Given the description of an element on the screen output the (x, y) to click on. 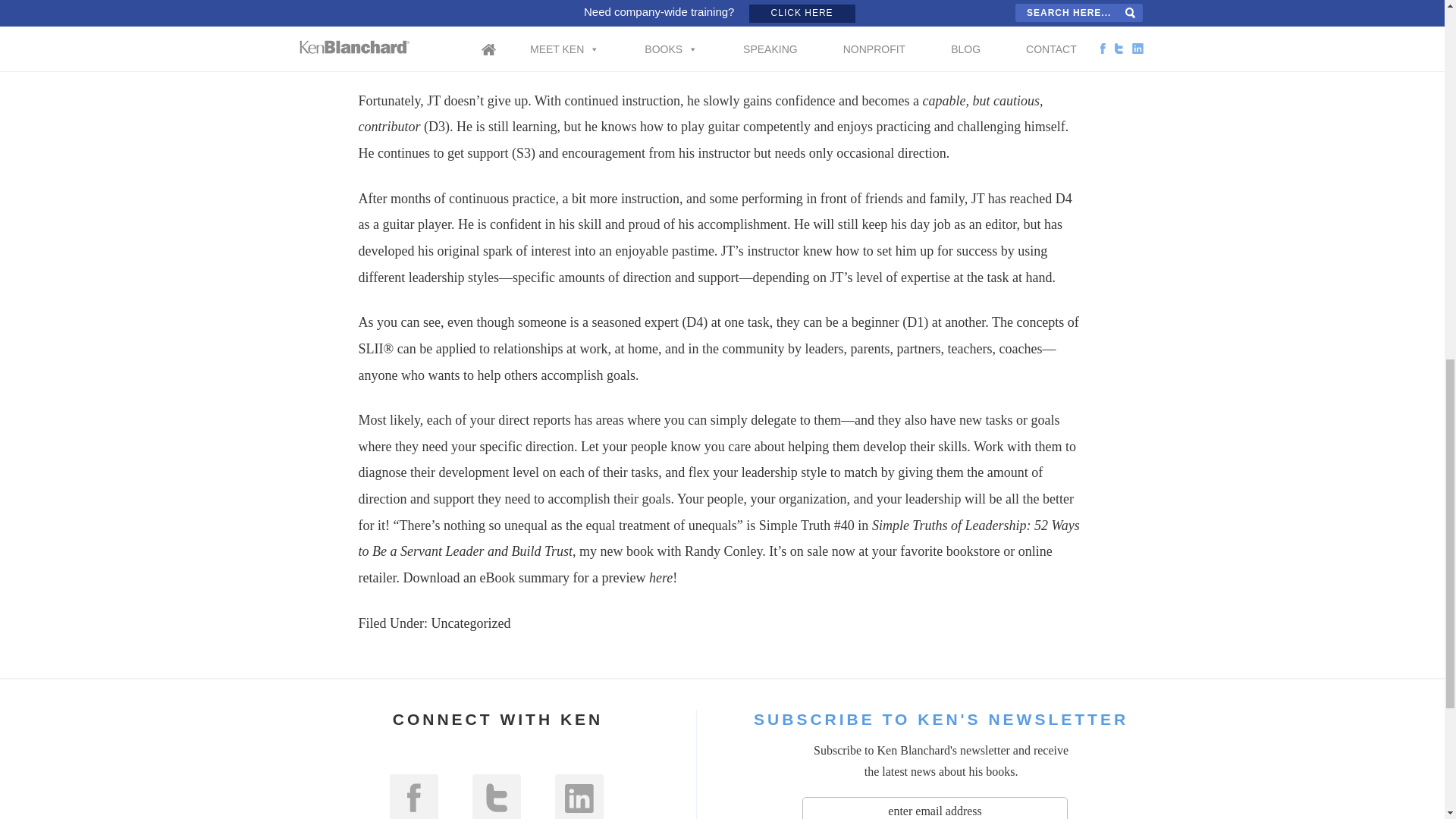
facebook (414, 796)
Uncategorized (470, 622)
Download an eBook summary for a preview here! (540, 577)
linkdin (579, 796)
Twitter (496, 796)
